Given the description of an element on the screen output the (x, y) to click on. 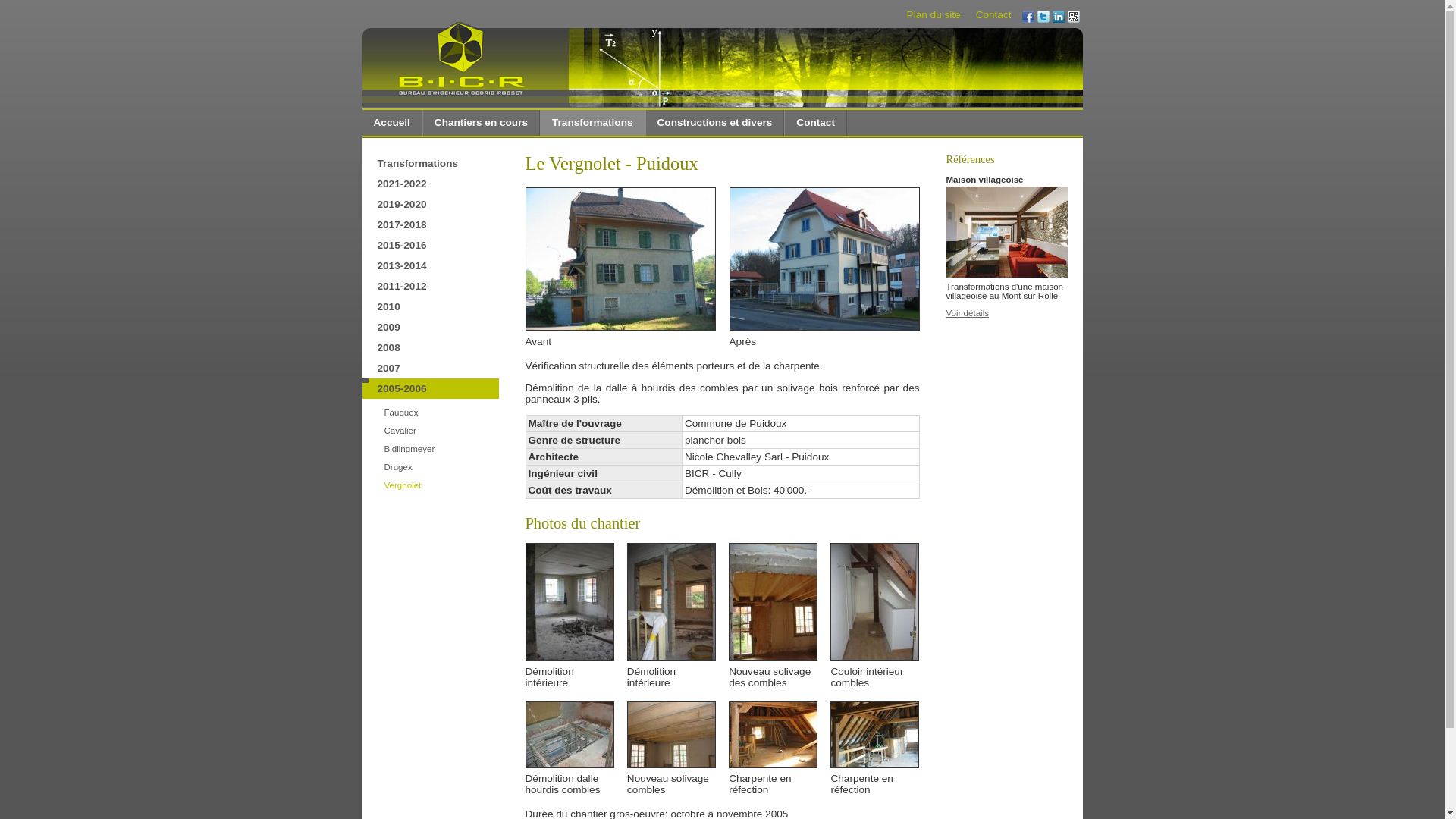
2017-2018 Element type: text (430, 224)
2007 Element type: text (430, 367)
Partager sur LinkedIn Element type: hover (1058, 17)
Plan du site Element type: text (933, 14)
Contact Element type: text (815, 122)
Drugex Element type: text (439, 467)
Constructions et divers Element type: text (715, 122)
2013-2014 Element type: text (430, 265)
2019-2020 Element type: text (430, 204)
2015-2016 Element type: text (430, 245)
Transformations Element type: text (430, 163)
Cavalier Element type: text (439, 430)
Accueil Element type: text (392, 122)
2011-2012 Element type: text (430, 286)
Transformations Element type: text (592, 122)
2010 Element type: text (430, 306)
2009 Element type: text (430, 326)
2008 Element type: text (430, 347)
Contact Element type: text (993, 14)
Partager sur Twitter Element type: hover (1043, 17)
Vergnolet Element type: text (439, 485)
Chantiers en cours Element type: text (481, 122)
Partager sur Facebook Element type: hover (1028, 17)
2005-2006 Element type: text (430, 388)
Fauquex Element type: text (439, 412)
2021-2022 Element type: text (430, 183)
Bidlingmeyer Element type: text (439, 448)
Afficher le QR-Code Element type: hover (1073, 17)
